Given the description of an element on the screen output the (x, y) to click on. 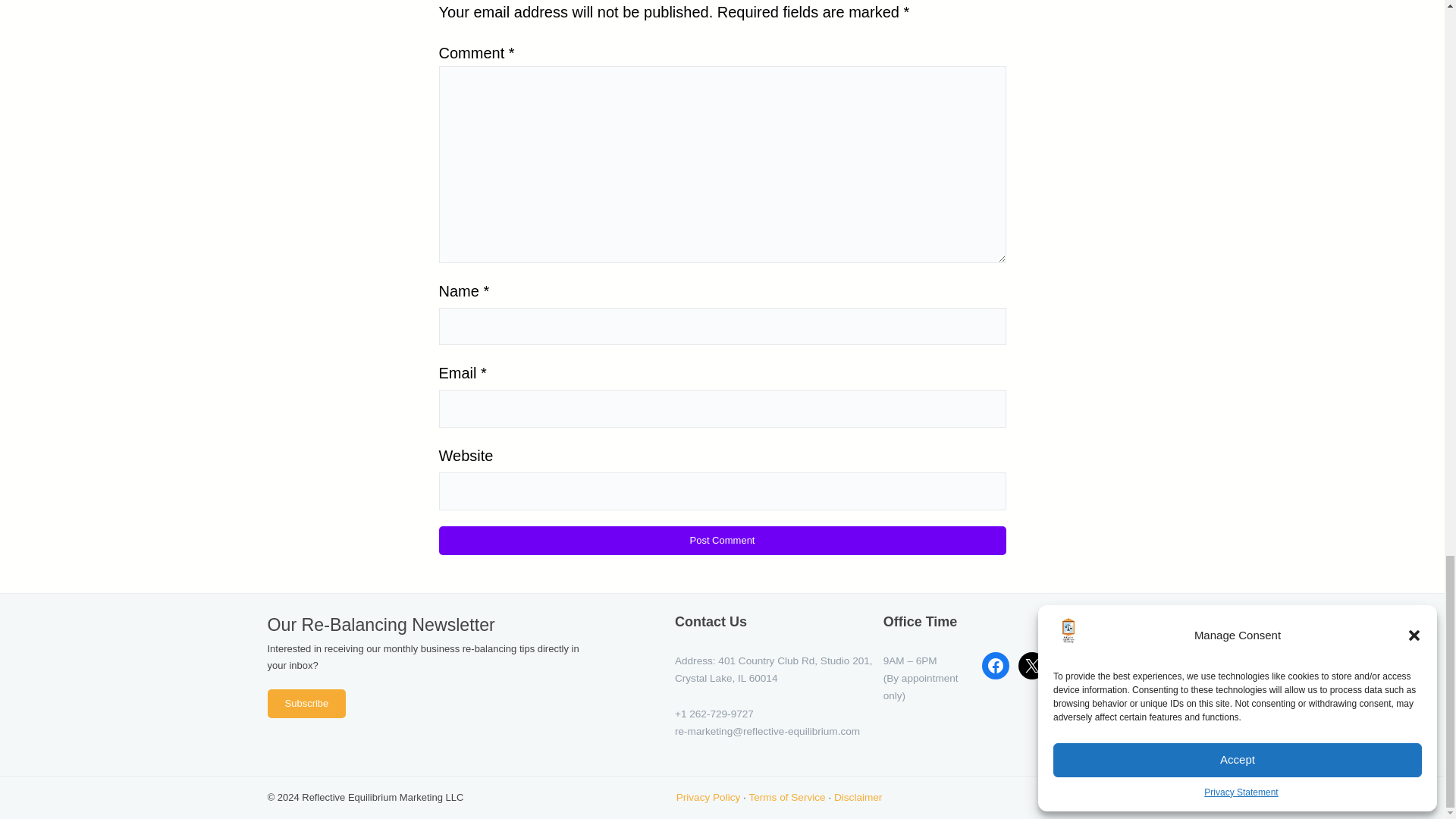
X (1031, 665)
Subscribe (306, 703)
Post Comment (722, 540)
Facebook (995, 665)
Post Comment (722, 540)
LinkedIn (1067, 665)
